Given the description of an element on the screen output the (x, y) to click on. 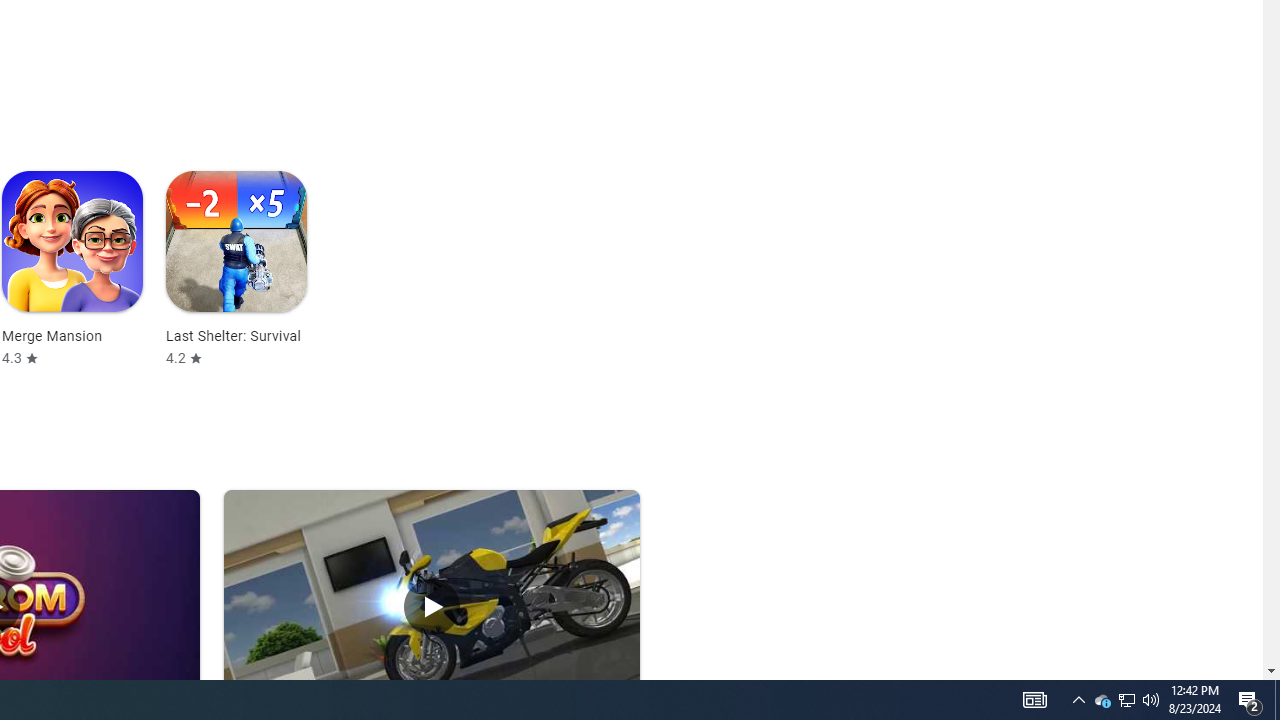
Last Shelter: Survival Rated 4.2 stars out of five stars (236, 268)
Play Traffic Rider (431, 606)
Merge Mansion Rated 4.3 stars out of five stars (72, 268)
